Given the description of an element on the screen output the (x, y) to click on. 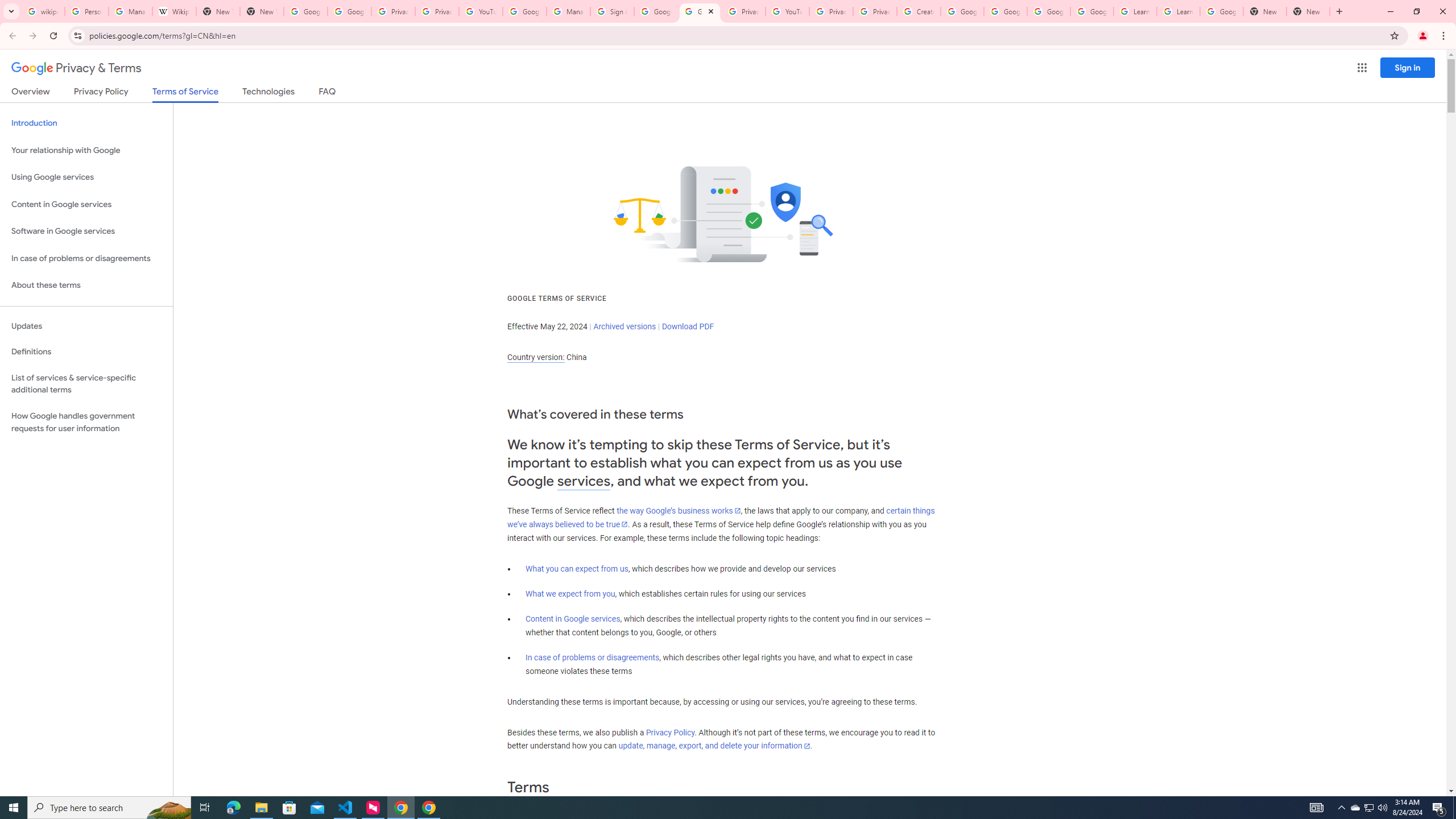
Software in Google services (86, 230)
Country version: (535, 357)
New Tab (261, 11)
Create your Google Account (918, 11)
Content in Google services (572, 618)
Download PDF (687, 326)
Manage your Location History - Google Search Help (130, 11)
Google Account Help (1091, 11)
